Given the description of an element on the screen output the (x, y) to click on. 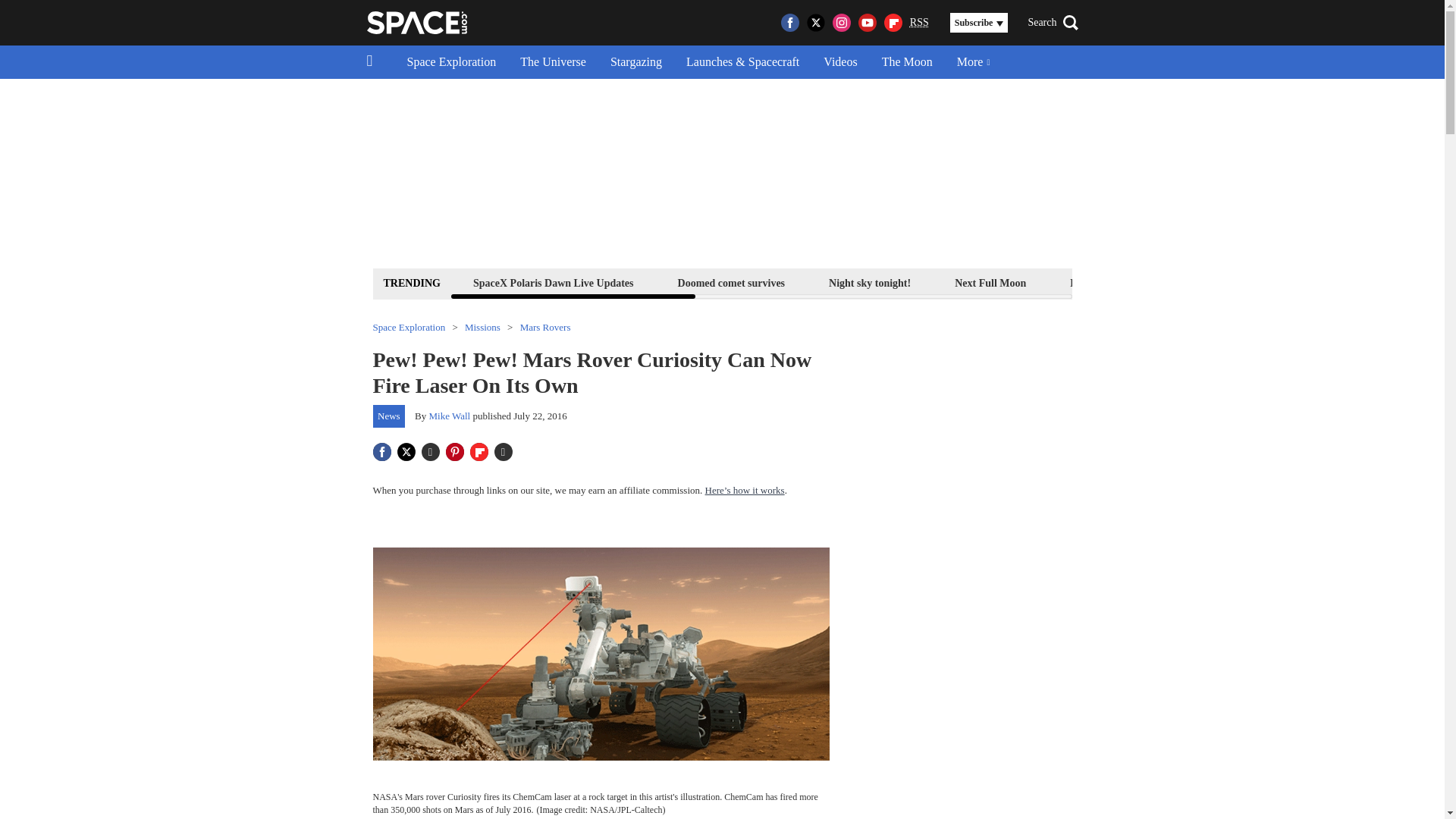
Best Telescopes (1104, 282)
The Moon (906, 61)
SpaceX Polaris Dawn Live Updates (553, 282)
Best Star Projectors (1343, 282)
The Universe (553, 61)
Really Simple Syndication (919, 21)
Next Full Moon (989, 282)
Space Exploration (451, 61)
Doomed comet survives (731, 282)
Videos (839, 61)
